Given the description of an element on the screen output the (x, y) to click on. 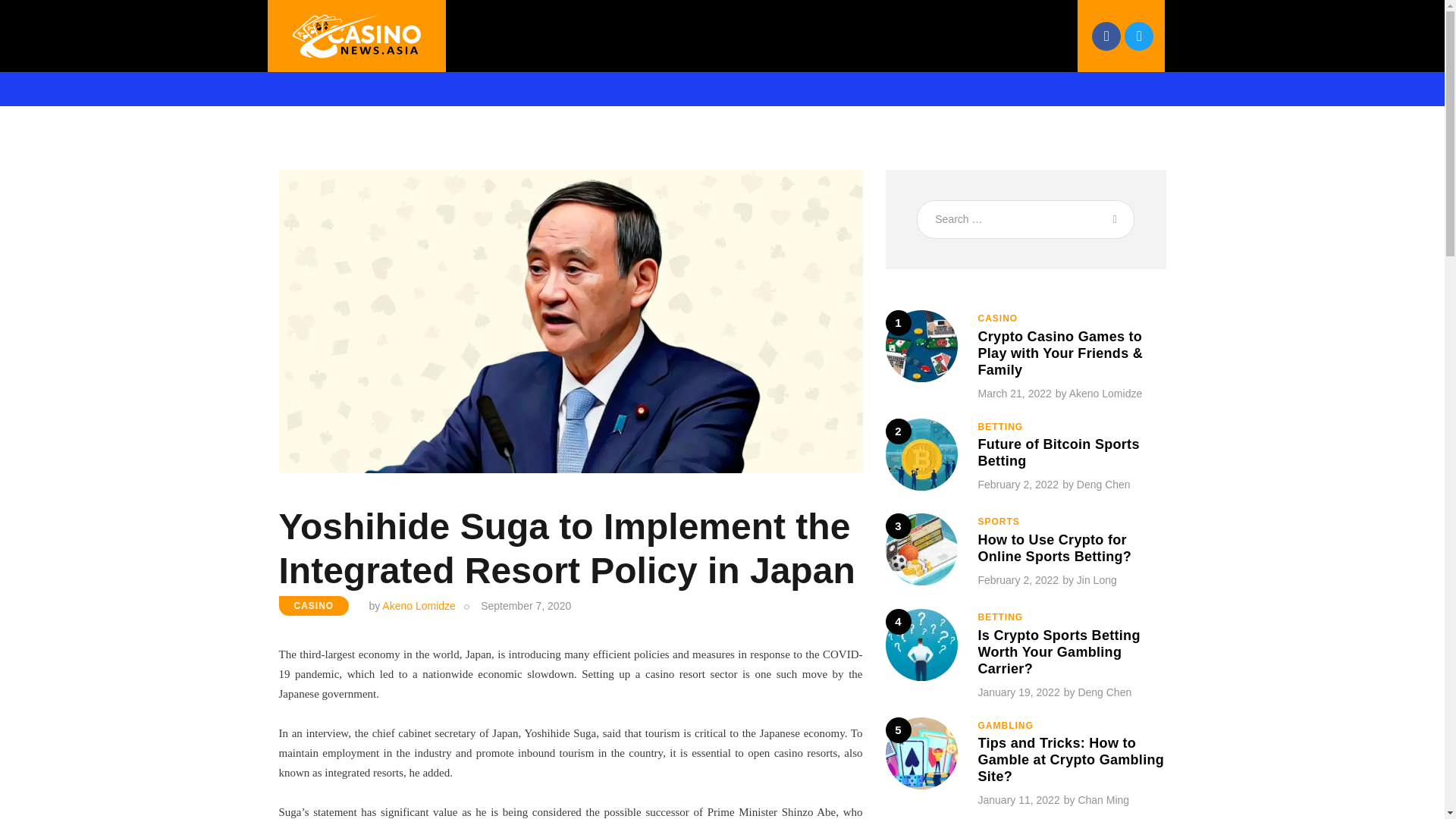
View all posts in Casino (997, 317)
Search (1111, 219)
by Akeno Lomidze (422, 605)
View all posts in Betting (1000, 426)
View all posts in Sports (999, 521)
CASINO (314, 605)
Search (1111, 219)
View all posts in Betting (1000, 616)
View all posts in Gambling (1005, 725)
